Given the description of an element on the screen output the (x, y) to click on. 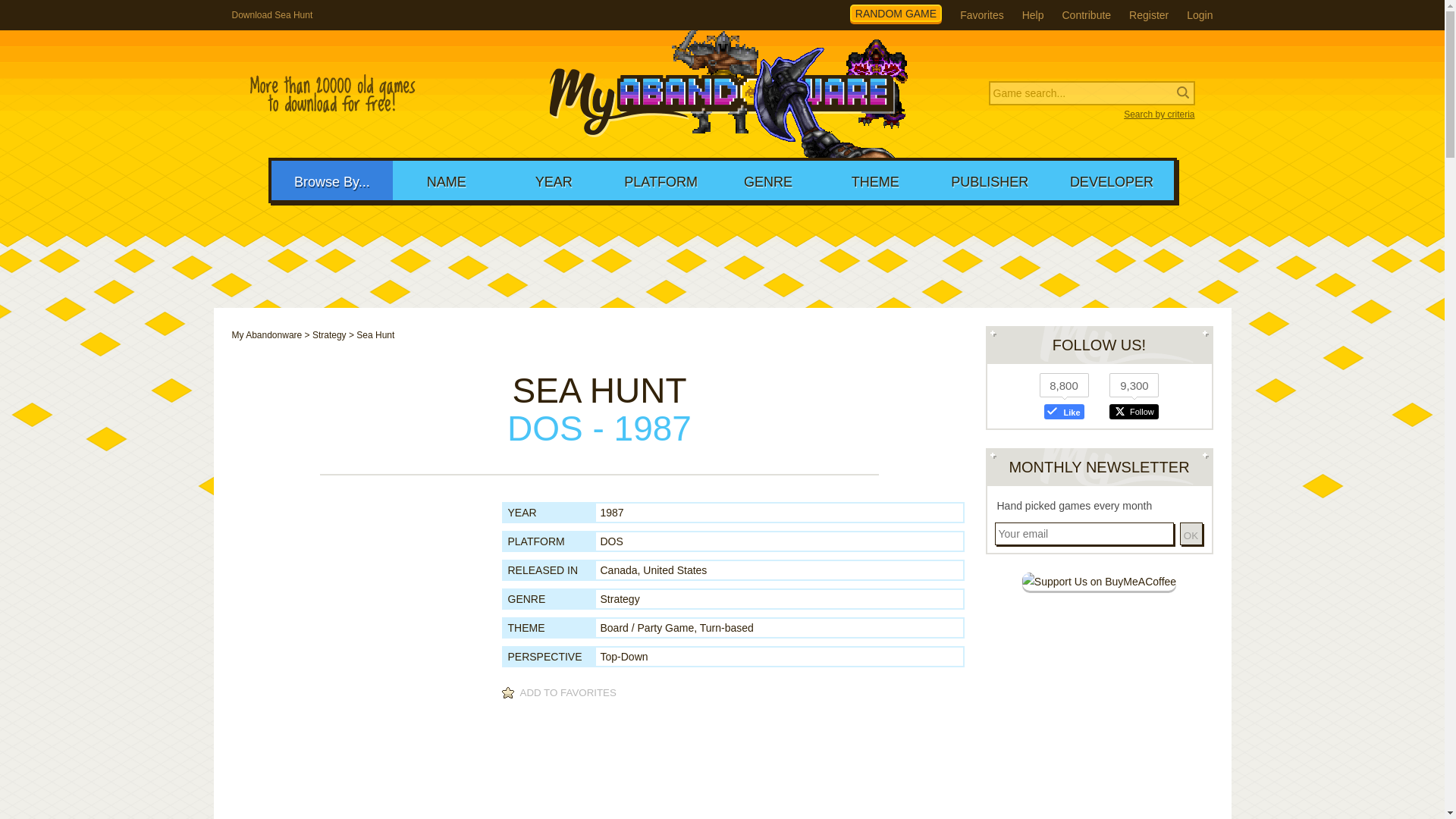
Contribute (1085, 14)
Turn-based (727, 627)
Browse games of this theme (727, 627)
Favorites (981, 14)
Browse your Favorite Games (981, 14)
NAME (446, 179)
Ad-free browsing included (1098, 581)
Login MAW (1199, 14)
search (98, 12)
YEAR (553, 179)
Register (1149, 14)
Browse games of this genre (619, 598)
DOS (611, 541)
Strategy (329, 335)
THEME (875, 179)
